Given the description of an element on the screen output the (x, y) to click on. 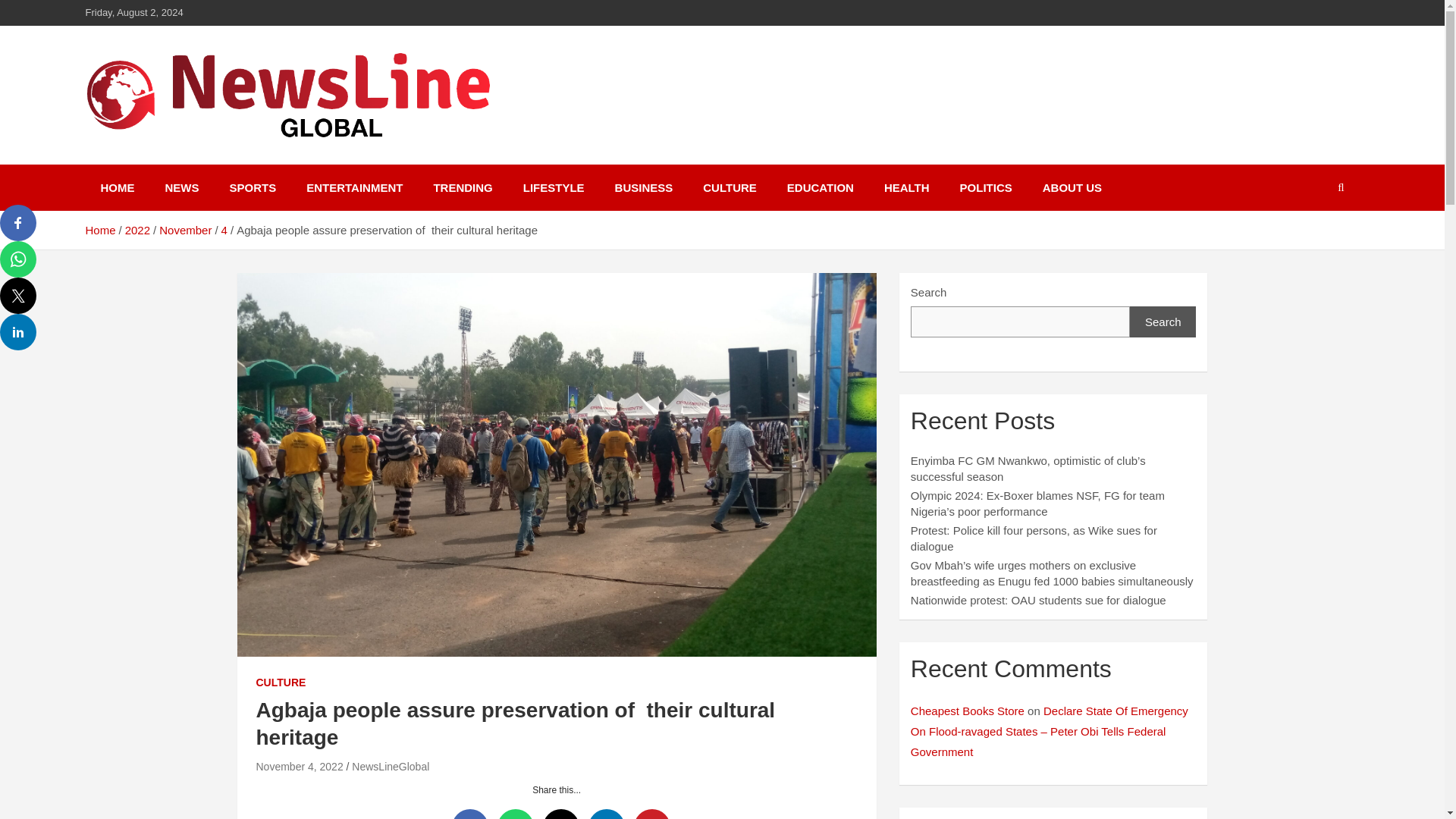
NEWS (181, 187)
CULTURE (280, 683)
ENTERTAINMENT (354, 187)
BUSINESS (643, 187)
EDUCATION (820, 187)
POLITICS (985, 187)
HEALTH (906, 187)
SPORTS (252, 187)
NewsLineGlobal (390, 766)
TRENDING (461, 187)
NewsLineGlobal (202, 161)
November 4, 2022 (299, 766)
CULTURE (729, 187)
Home (99, 229)
November (184, 229)
